Given the description of an element on the screen output the (x, y) to click on. 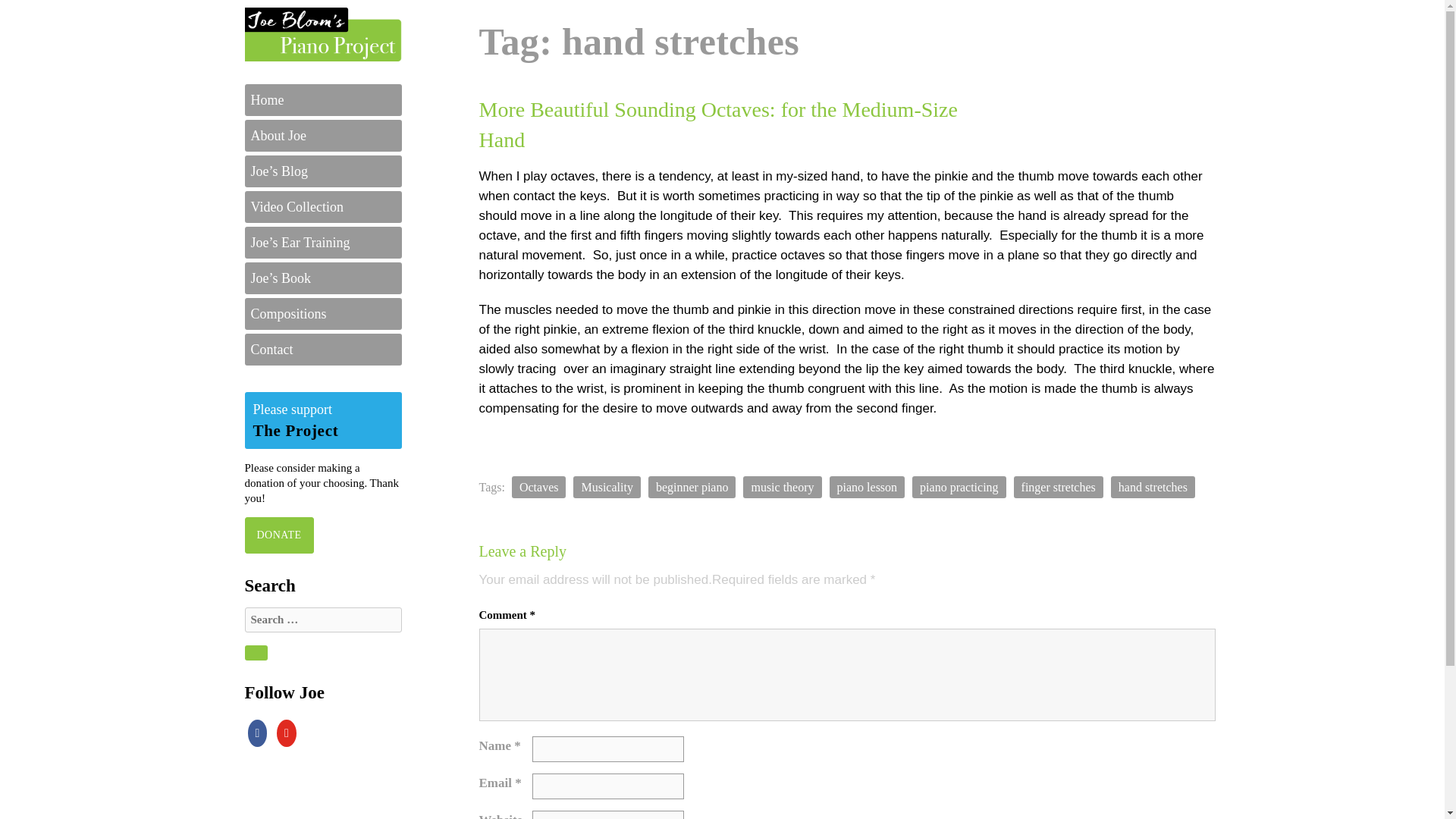
Octaves (539, 486)
music theory (781, 486)
Video Collection (322, 206)
piano lesson (867, 486)
Musicality (606, 486)
DONATE (278, 534)
hand stretches (1152, 486)
beginner piano (691, 486)
Contact (322, 349)
SEARCH (255, 652)
